Given the description of an element on the screen output the (x, y) to click on. 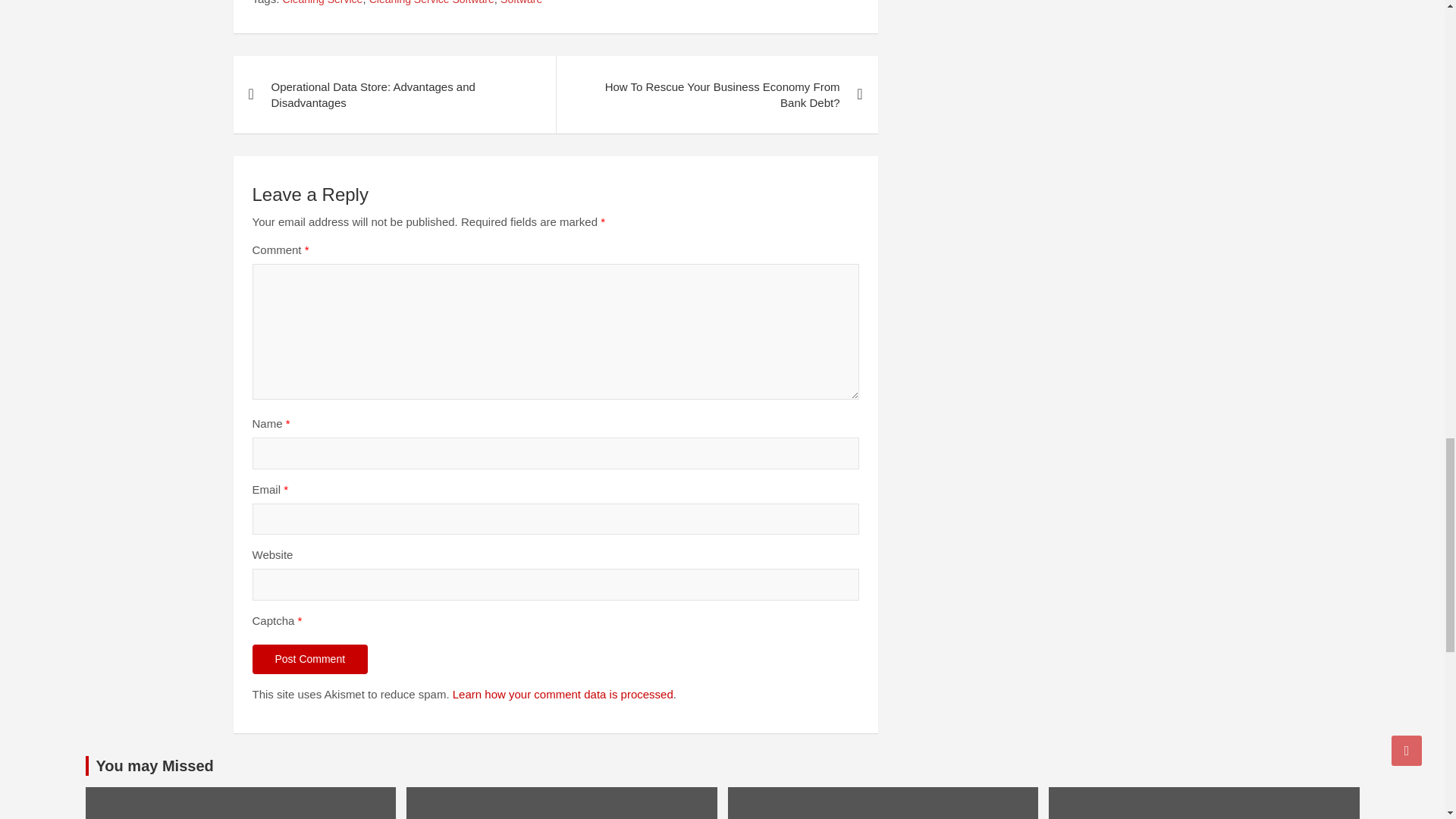
Post Comment (309, 659)
